Given the description of an element on the screen output the (x, y) to click on. 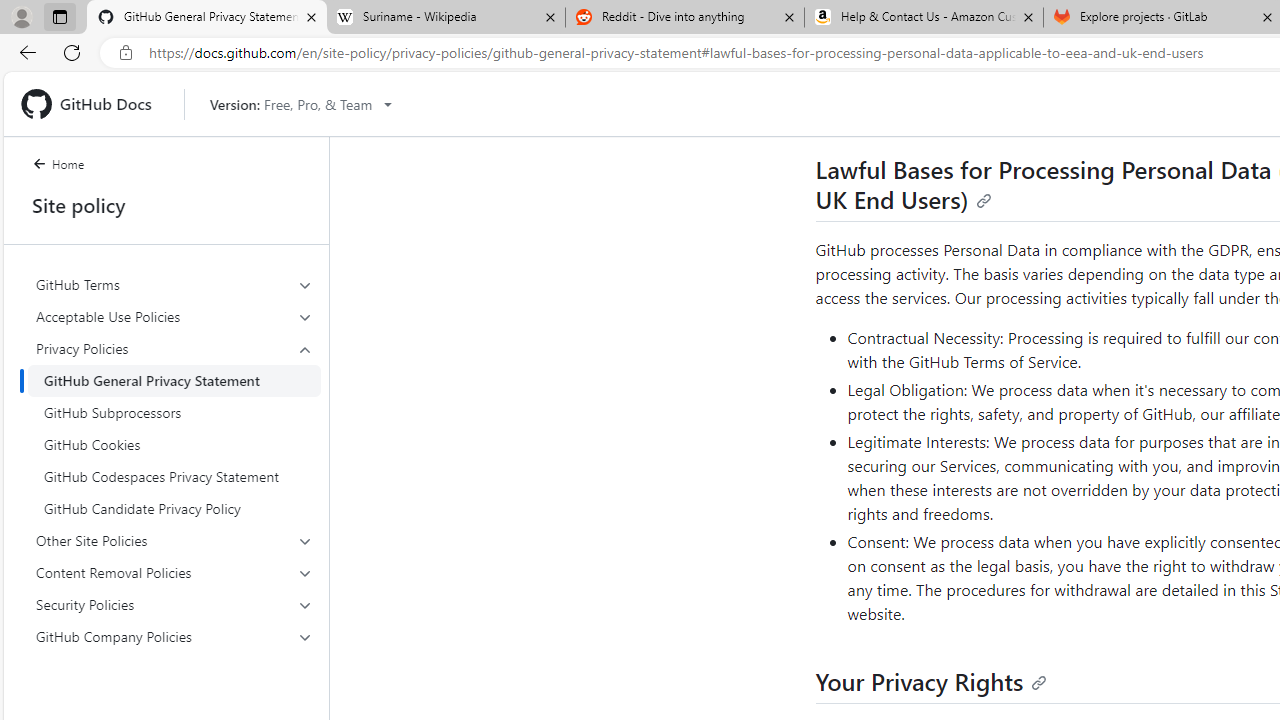
GitHub Company Policies (174, 636)
GitHub General Privacy Statement (174, 380)
Security Policies (174, 604)
GitHub Terms (174, 284)
Your Privacy Rights (931, 681)
Security Policies (174, 604)
Other Site Policies (174, 540)
Acceptable Use Policies (174, 316)
GitHub Cookies (174, 444)
GitHub Subprocessors (174, 412)
